Given the description of an element on the screen output the (x, y) to click on. 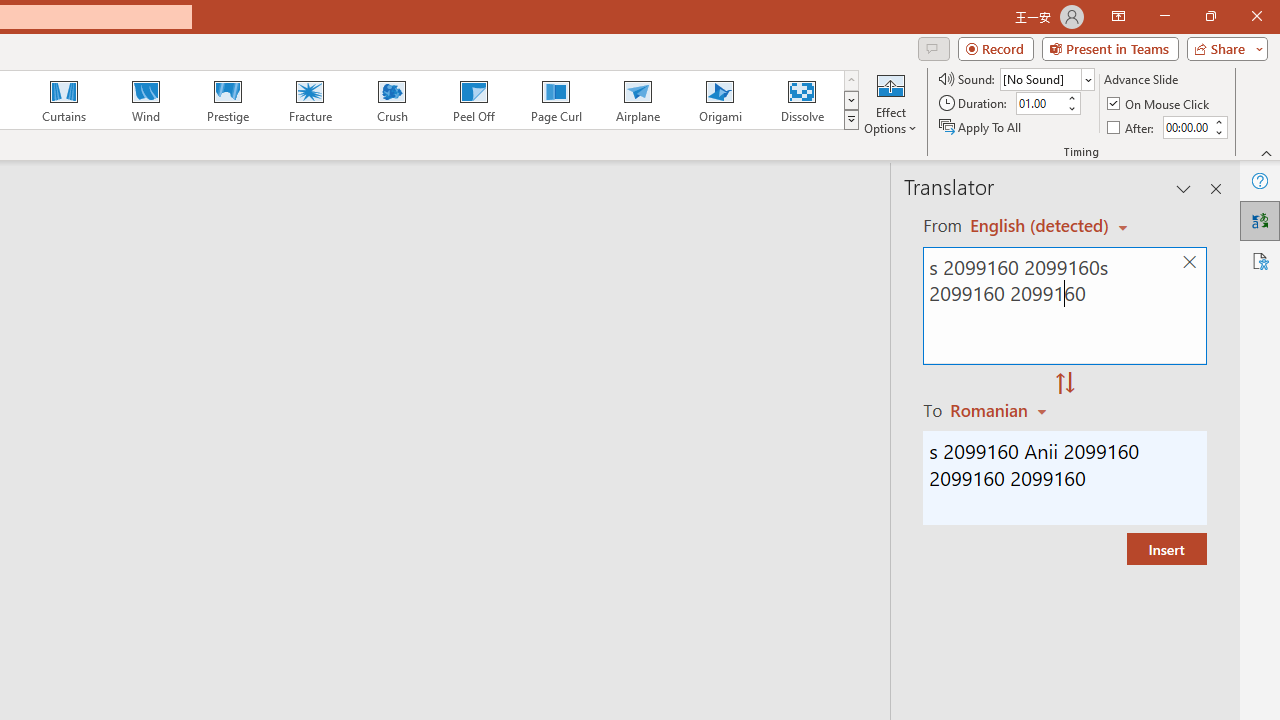
Prestige (227, 100)
Origami (719, 100)
Peel Off (473, 100)
Sound (1046, 78)
Fracture (309, 100)
Curtains (63, 100)
Crush (391, 100)
Airplane (637, 100)
